Given the description of an element on the screen output the (x, y) to click on. 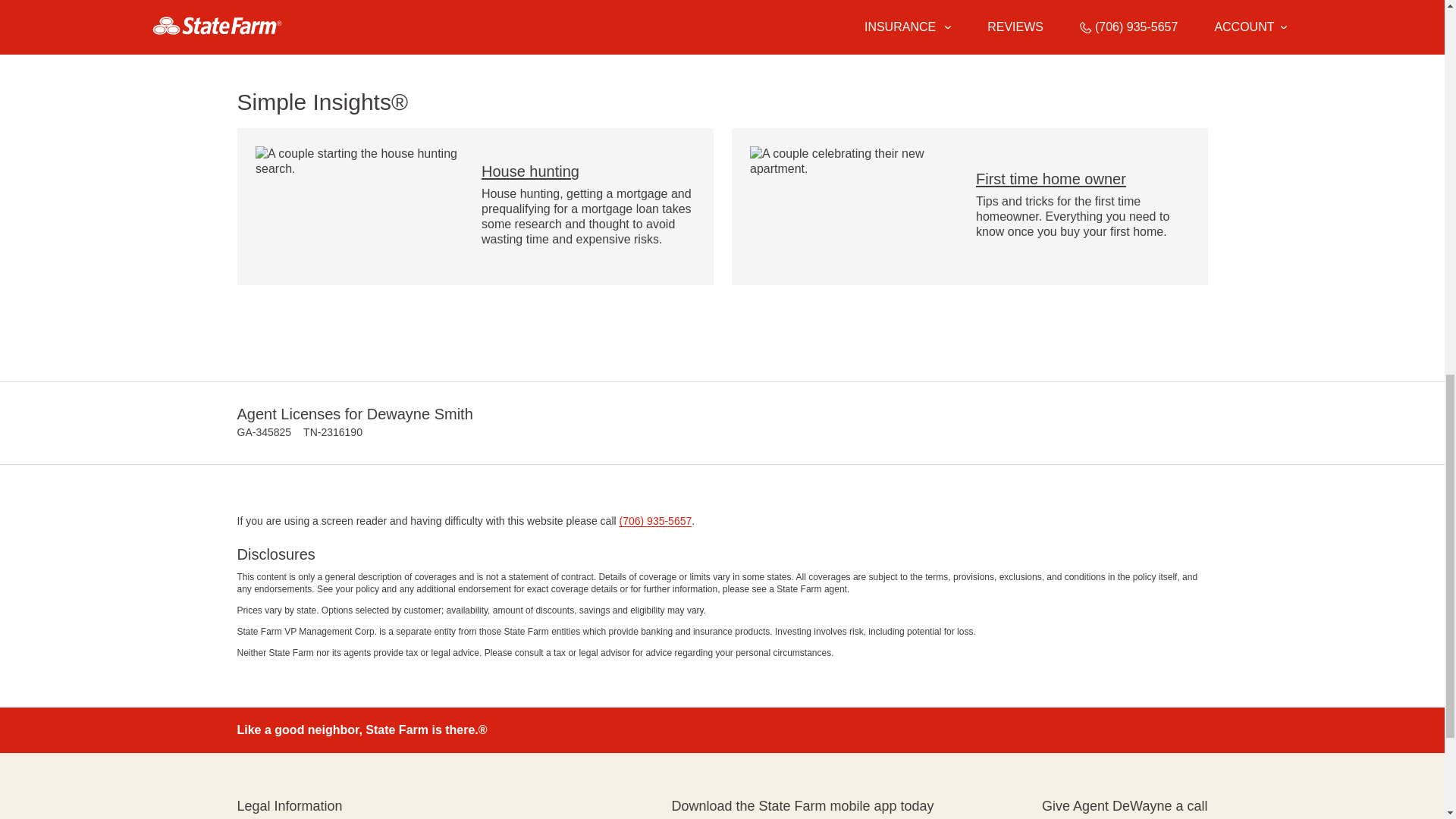
FAQ page (504, 31)
